Given the description of an element on the screen output the (x, y) to click on. 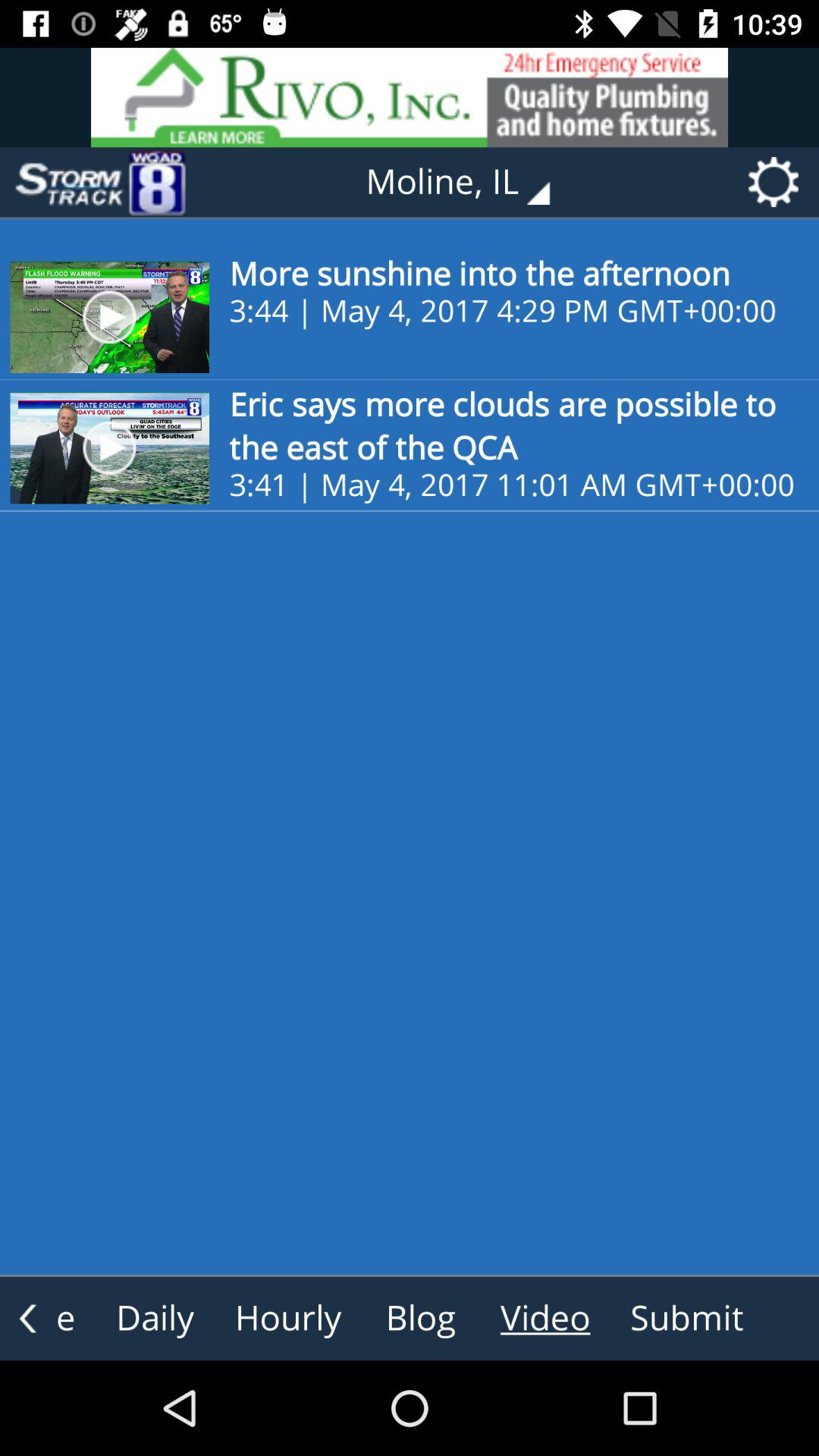
turn on moline, il (468, 182)
